Given the description of an element on the screen output the (x, y) to click on. 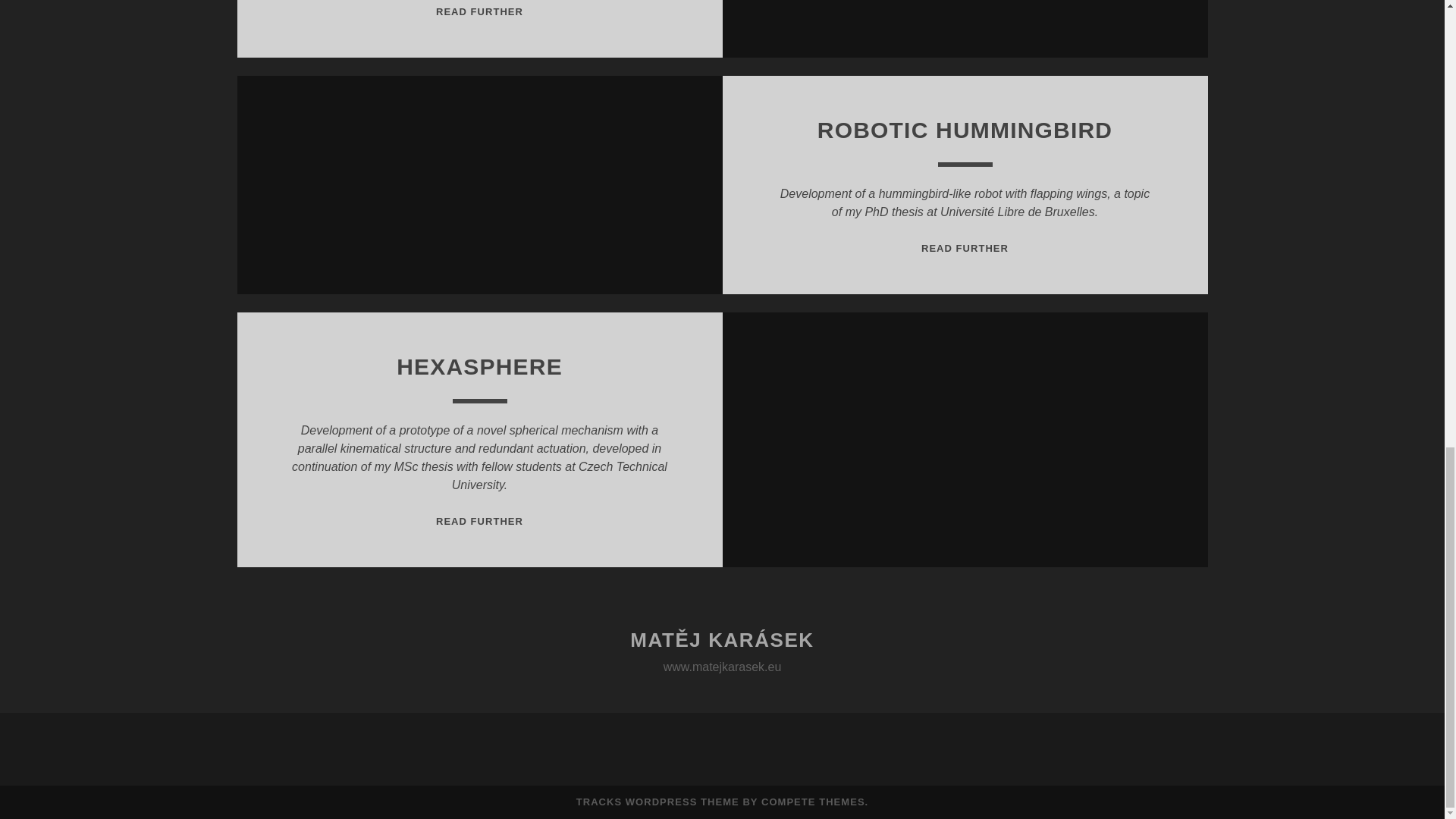
ROBOTIC HUMMINGBIRD (478, 521)
TRACKS WORDPRESS THEME (964, 129)
HEXASPHERE (657, 801)
